Given the description of an element on the screen output the (x, y) to click on. 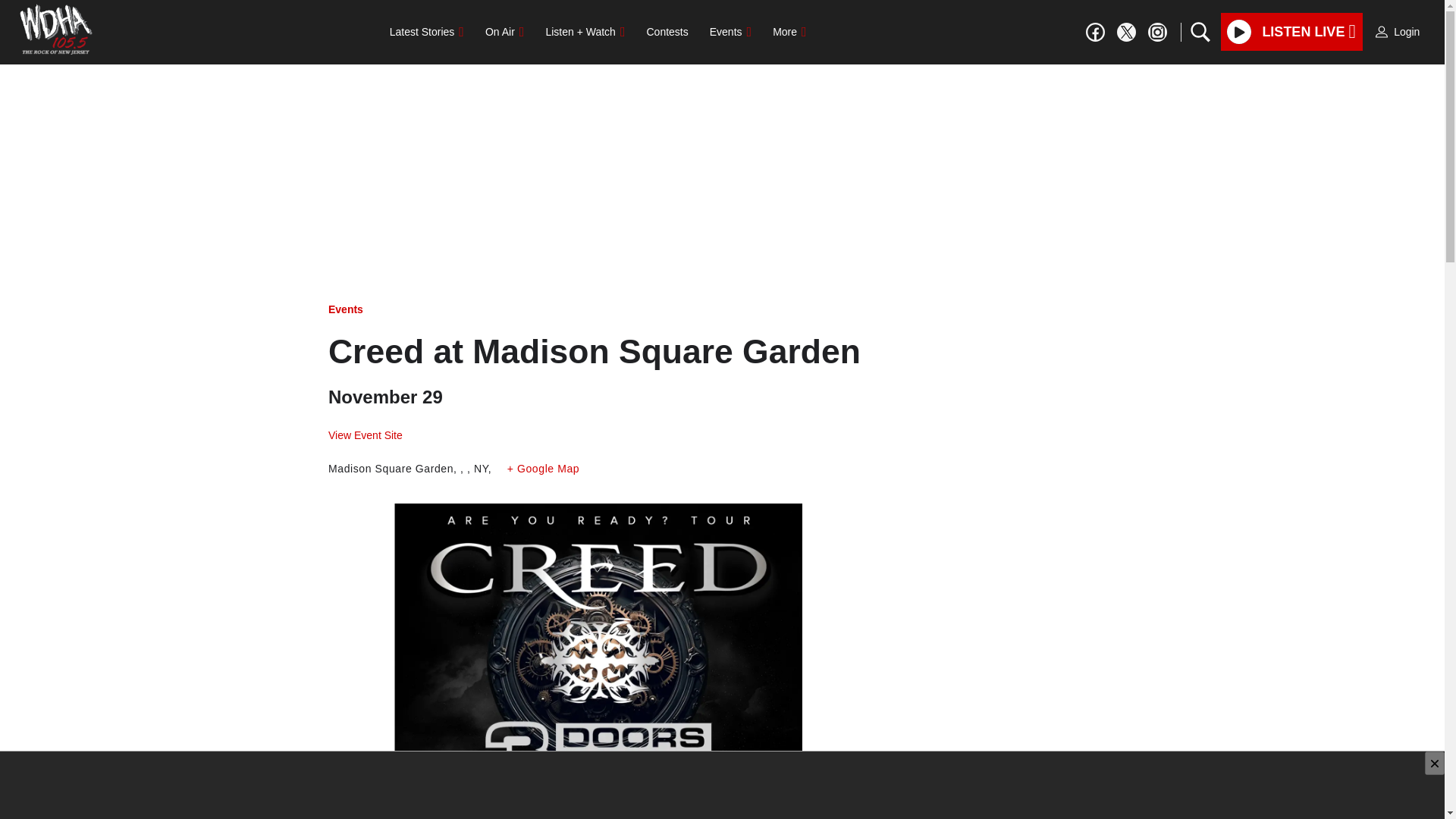
Close AdCheckmark indicating ad close (1434, 763)
Click to view a Google Map (542, 468)
On Air (504, 31)
Latest Stories (426, 31)
